Given the description of an element on the screen output the (x, y) to click on. 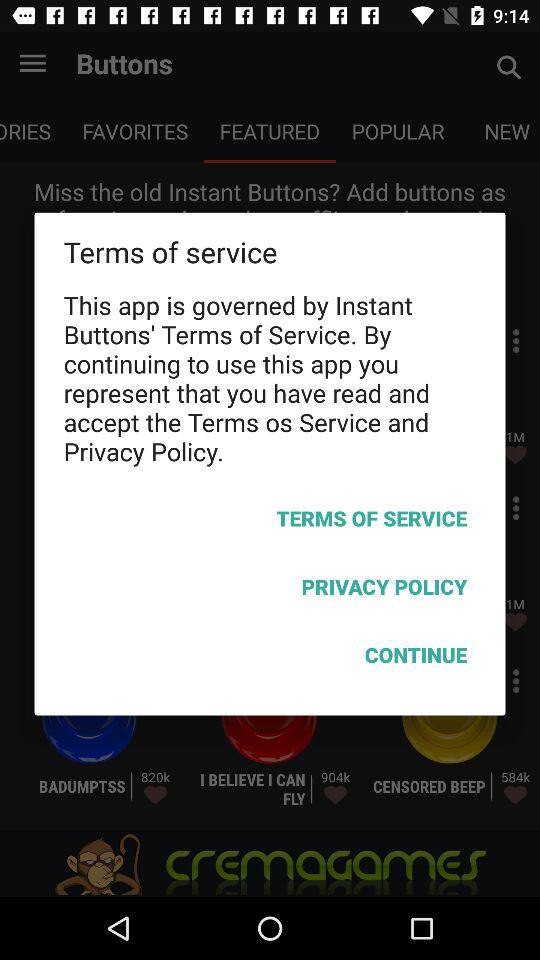
turn on icon above continue (269, 590)
